Given the description of an element on the screen output the (x, y) to click on. 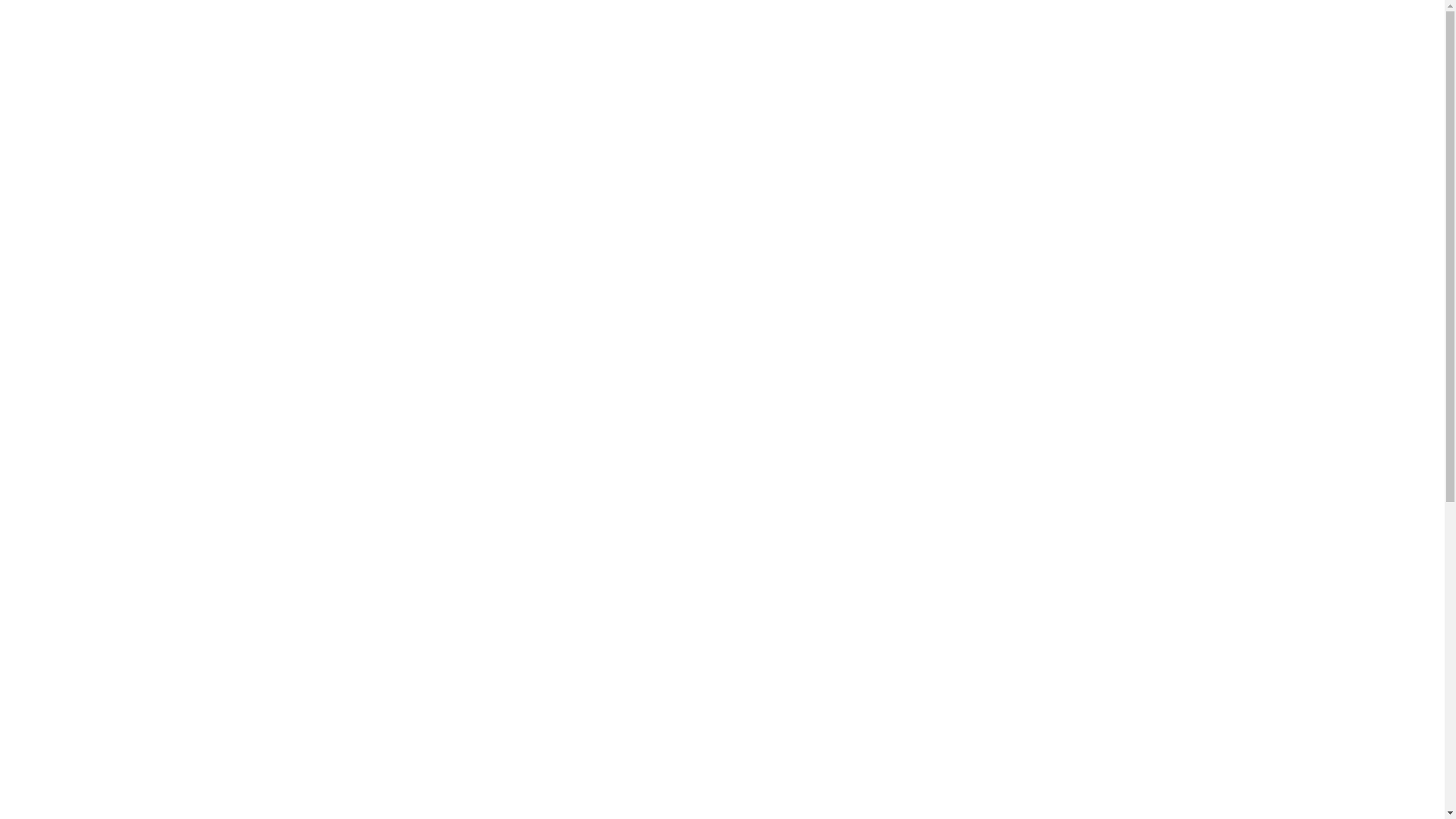
Blog Element type: text (1285, 40)
Vastgoedstyling Element type: text (687, 40)
Realisaties Element type: text (1111, 40)
Interieur design Element type: text (906, 40)
Vastgoed Depauw Element type: text (831, 304)
Meubelverhuur Element type: text (468, 40)
